Given the description of an element on the screen output the (x, y) to click on. 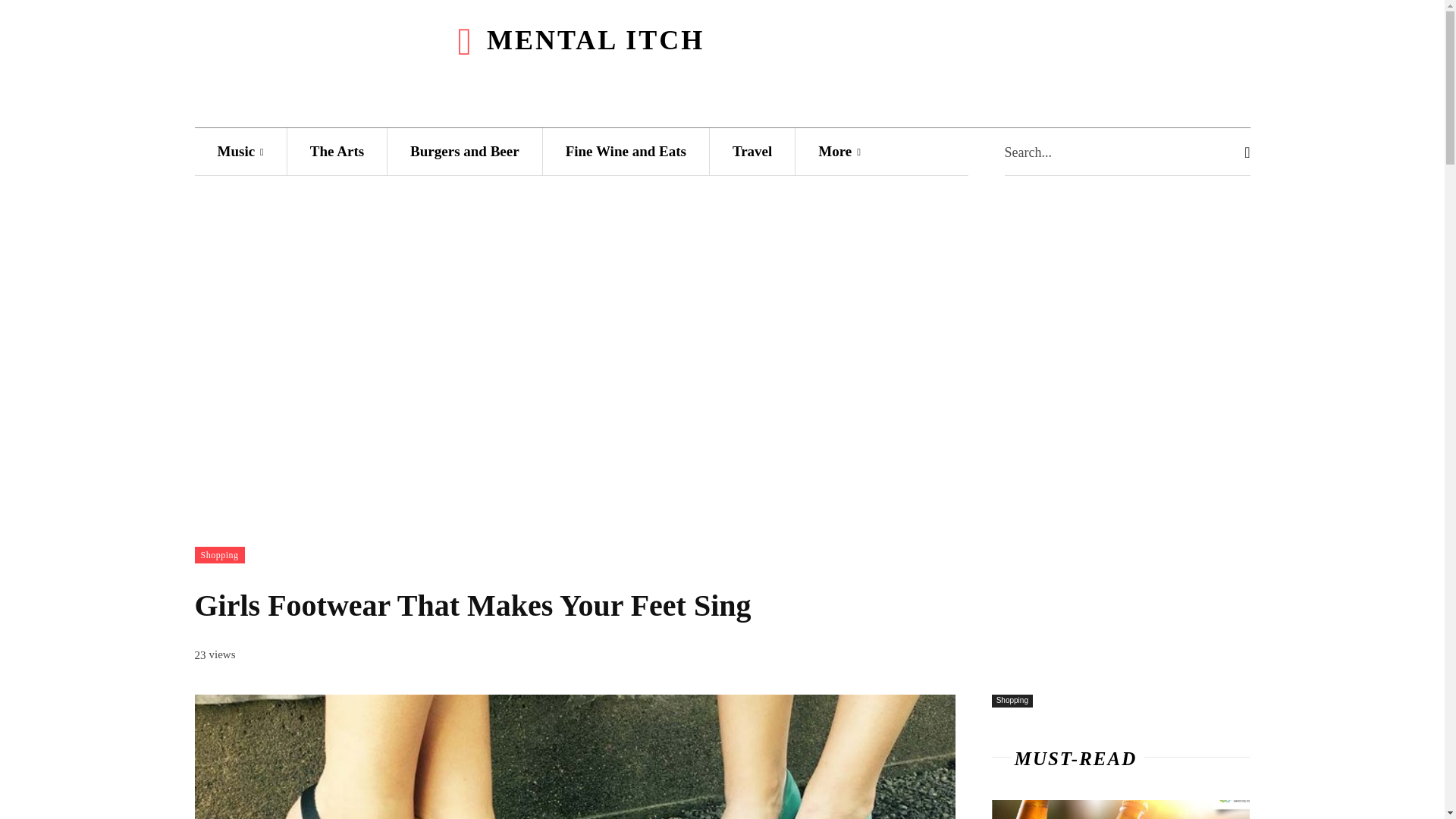
Why Does Beer Taste Better When Ice Cold? (1120, 809)
Girls Footwear That Makes Your Feet Sing (574, 756)
